Given the description of an element on the screen output the (x, y) to click on. 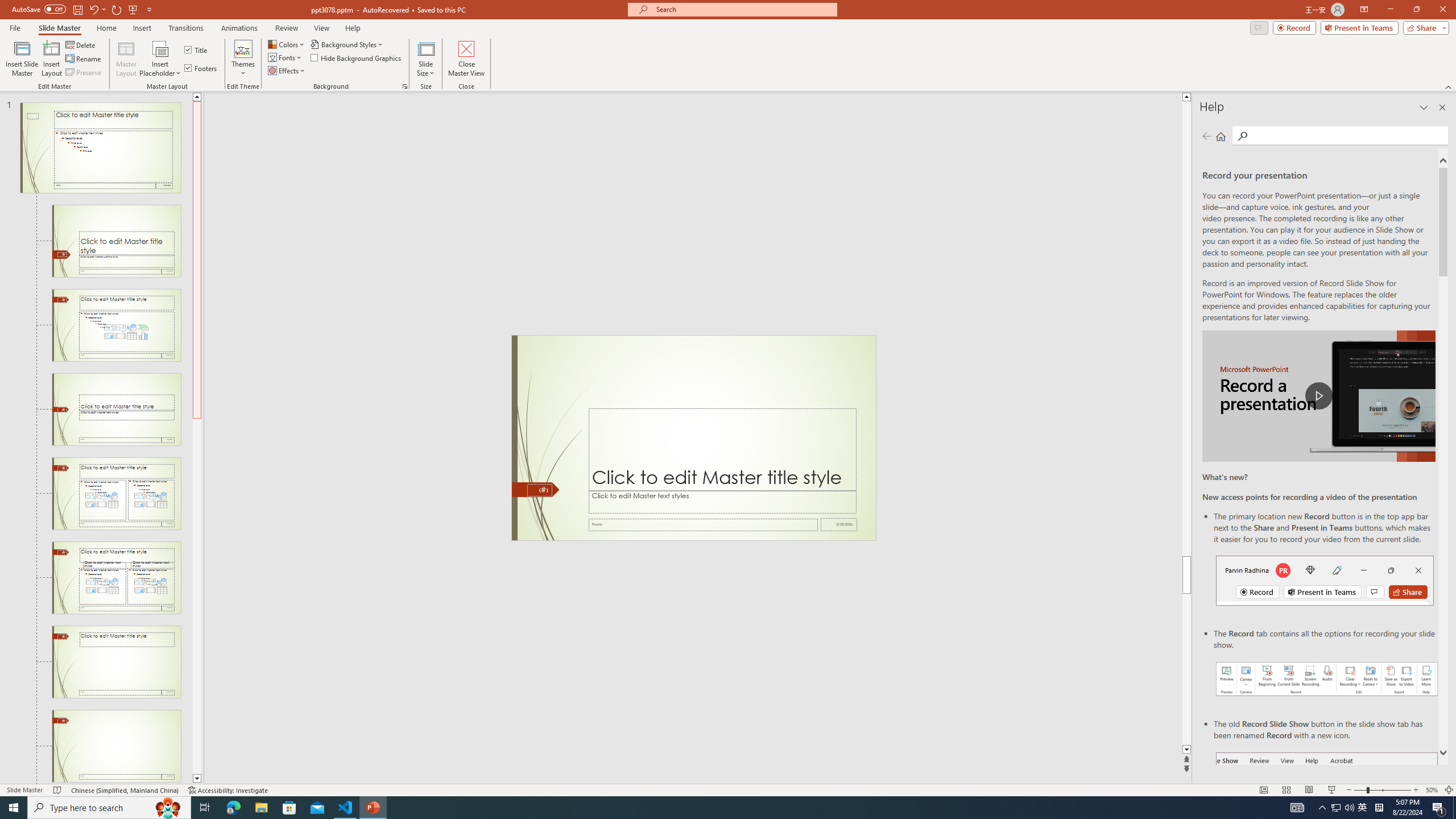
TextBox (722, 501)
Record button in top bar (1324, 580)
Hide Background Graphics (356, 56)
Footers (201, 67)
Slide Title and Content Layout: used by no slides (116, 325)
Line up (197, 96)
